Given the description of an element on the screen output the (x, y) to click on. 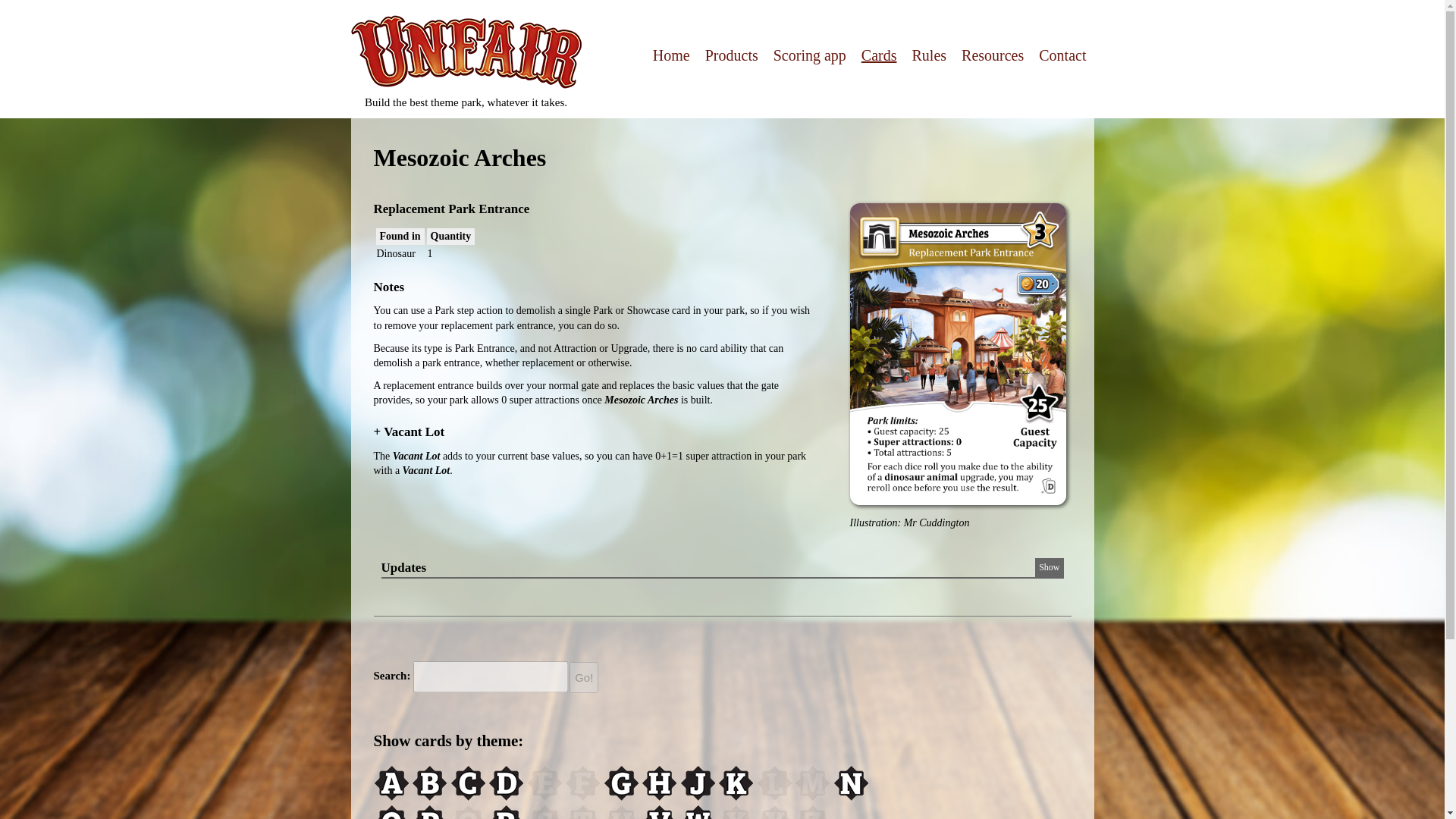
Scoring app (809, 55)
Contact (1062, 55)
Resources (991, 55)
Go! (583, 676)
Cards (878, 55)
Home (671, 55)
Products (731, 55)
Rules (929, 55)
